Given the description of an element on the screen output the (x, y) to click on. 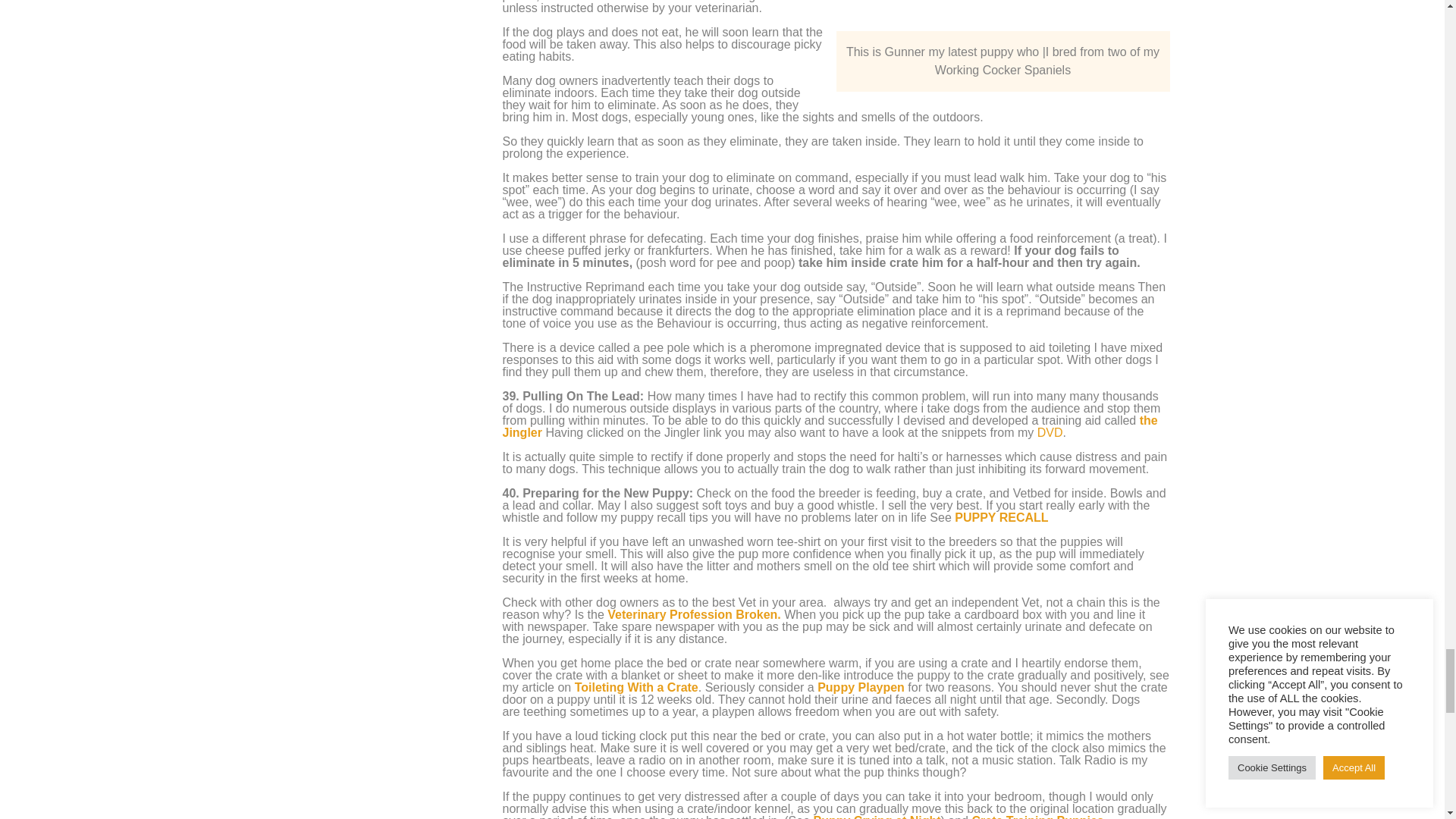
British made quality playpens (860, 686)
How to overcome Puppy Carying at Night (876, 816)
